Given the description of an element on the screen output the (x, y) to click on. 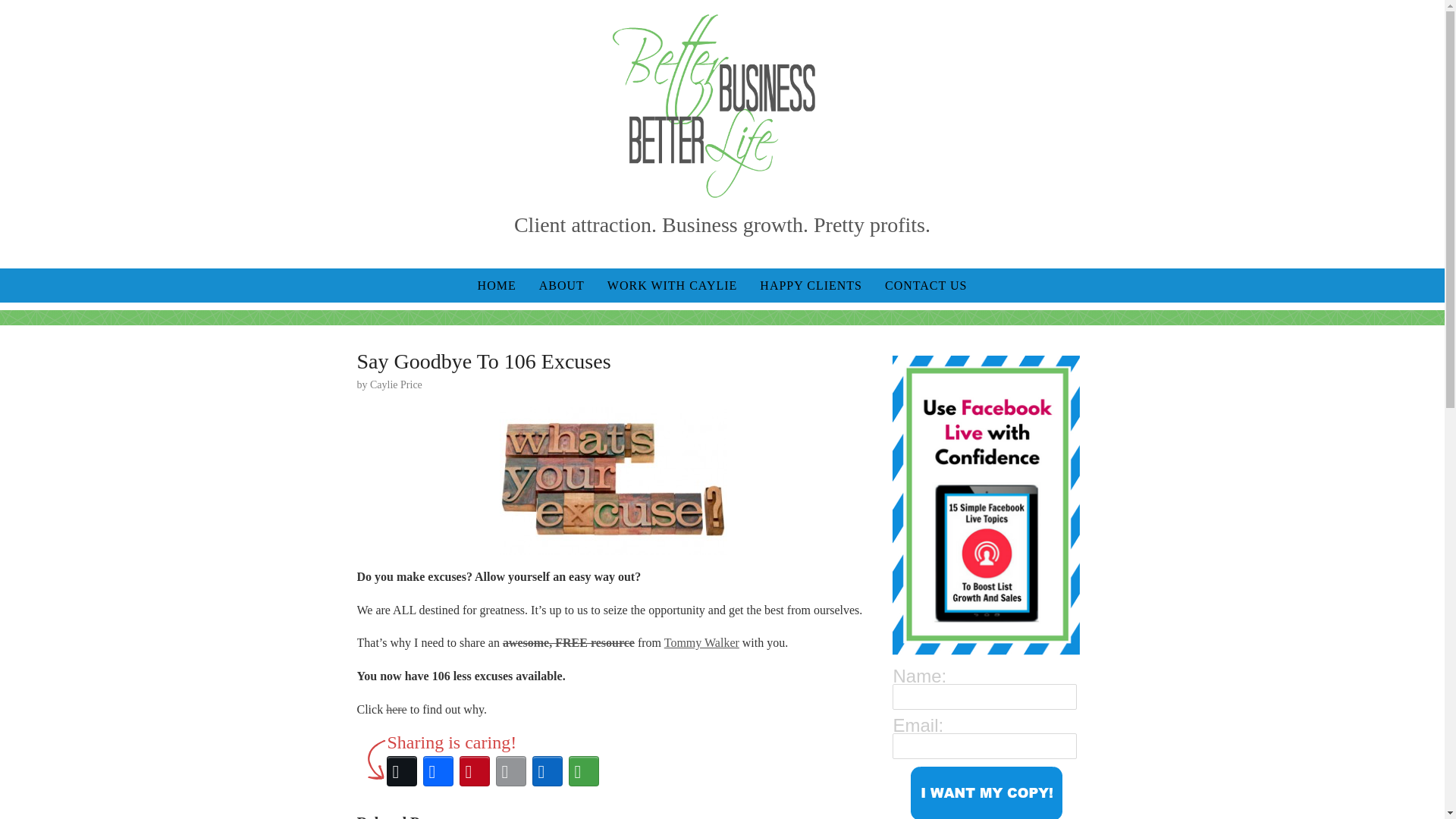
Caylie Price (395, 384)
Pinterest (475, 770)
View all posts by Caylie Price (395, 384)
HAPPY CLIENTS (810, 285)
More Options (584, 770)
here (396, 708)
Facebook (438, 770)
LinkedIn (547, 770)
CONTACT US (925, 285)
Tommy Walker (701, 642)
